Given the description of an element on the screen output the (x, y) to click on. 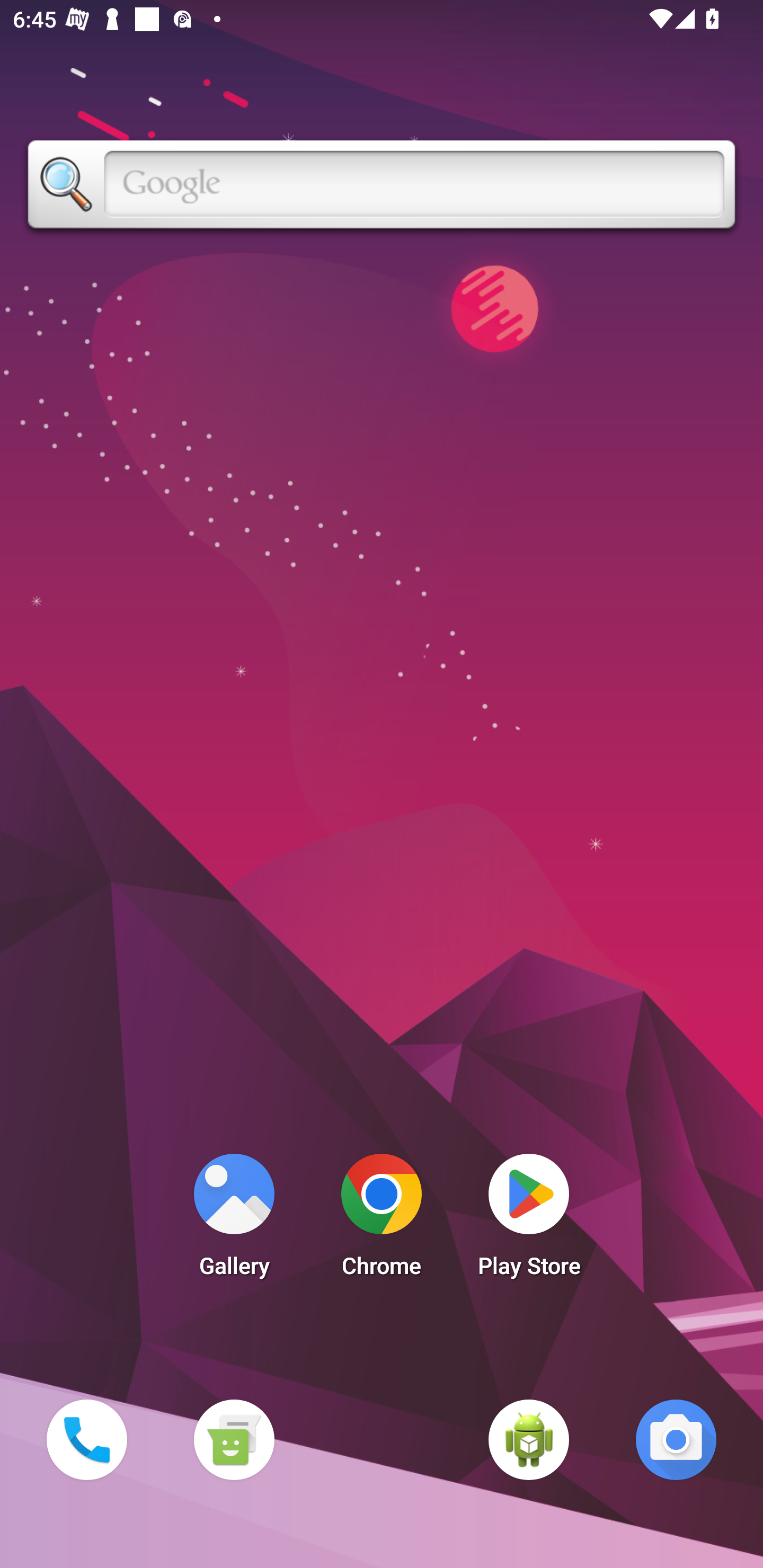
Gallery (233, 1220)
Chrome (381, 1220)
Play Store (528, 1220)
Phone (86, 1439)
Messaging (233, 1439)
WebView Browser Tester (528, 1439)
Camera (676, 1439)
